Given the description of an element on the screen output the (x, y) to click on. 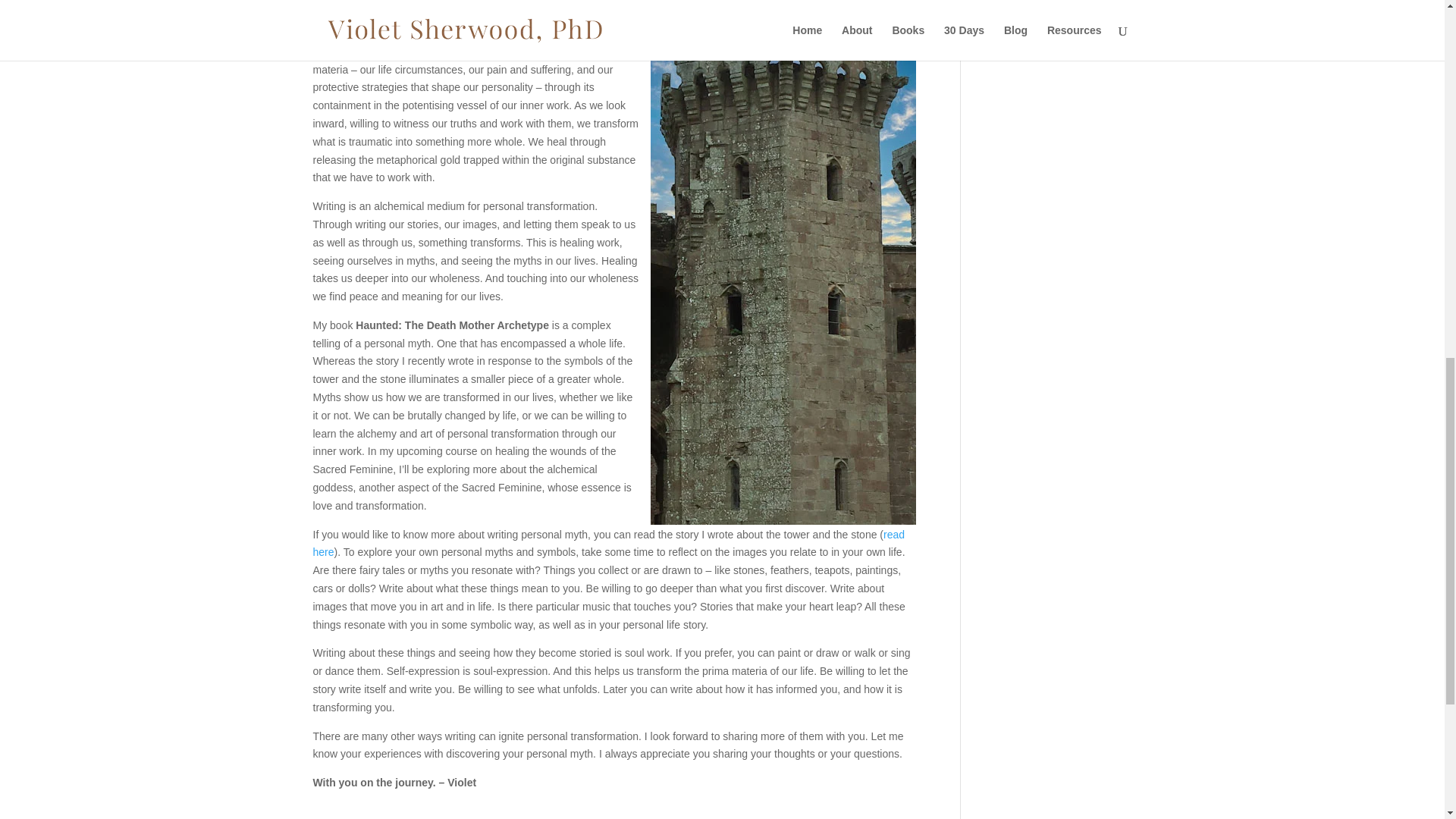
read here (608, 543)
